Given the description of an element on the screen output the (x, y) to click on. 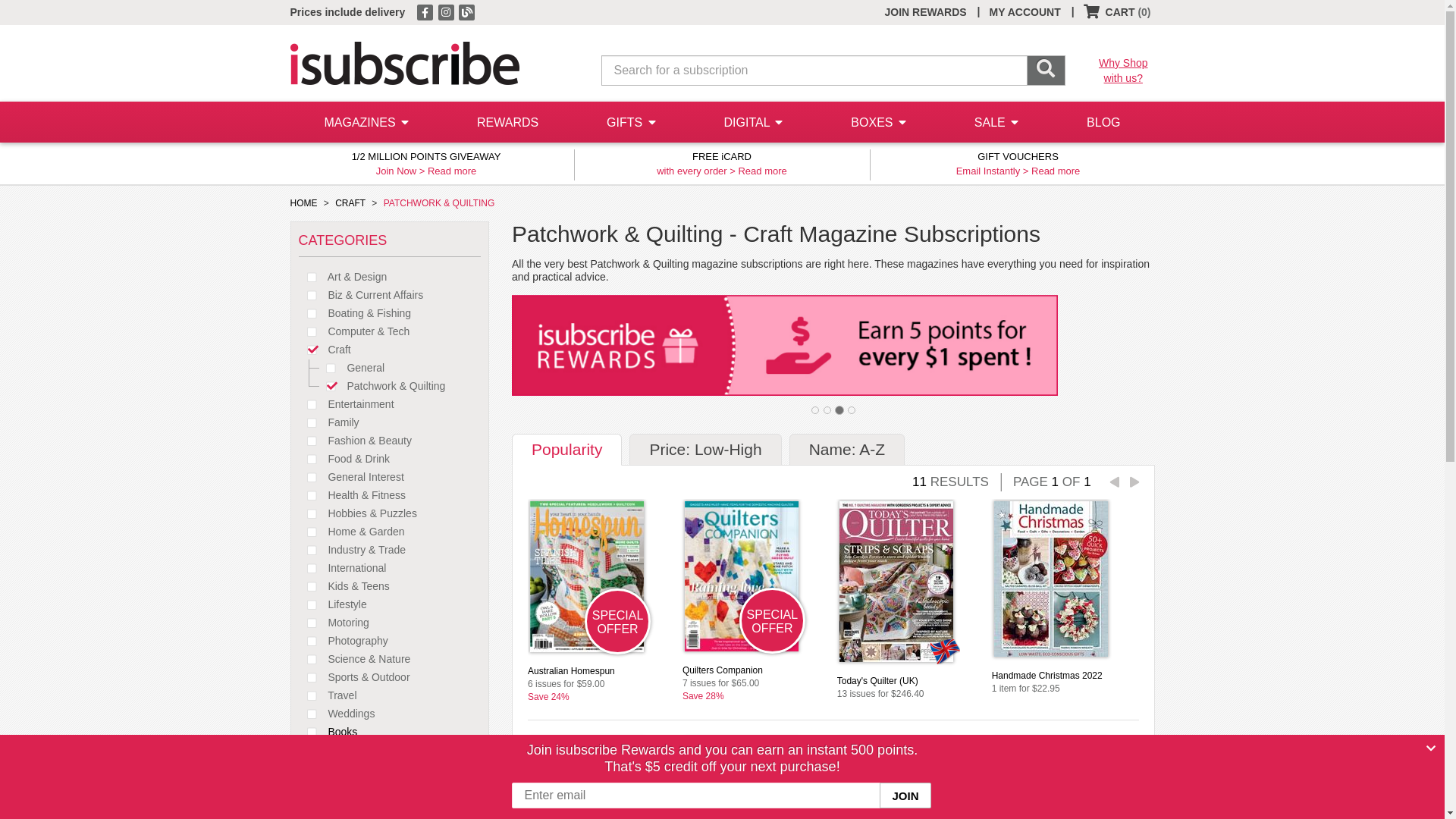
Entertainment Element type: text (346, 404)
Biz & Current Affairs Element type: text (360, 294)
GIFTS Element type: text (630, 122)
MY ACCOUNT Element type: text (1025, 12)
Prices include delivery Element type: text (346, 12)
Books Element type: text (327, 731)
isubscribe on Facebook Element type: hover (425, 11)
BOXES Element type: text (877, 122)
Home & Garden Element type: text (351, 531)
Newspapers Element type: text (342, 749)
Handmade Christmas 2022
1 item for $22.95 Element type: text (1065, 672)
Craft Element type: text (324, 349)
Food & Drink Element type: text (344, 458)
Health & Fitness Element type: text (352, 495)
Today's Quilter (UK)
13 issues for $246.40 Element type: text (910, 677)
HOME Element type: text (302, 202)
BLOG Element type: text (1103, 121)
Read more Element type: text (451, 170)
Computer & Tech Element type: text (354, 331)
isubscribe on Instagram Element type: hover (447, 11)
Science & Nature Element type: text (354, 658)
Price: Low-High Element type: text (705, 449)
DIGITAL Element type: text (753, 122)
REWARDS Element type: text (507, 121)
Kids & Teens Element type: text (343, 586)
MAGAZINES Element type: text (365, 122)
Why Shop
with us? Element type: text (1123, 70)
Name: A-Z Element type: text (846, 449)
International Element type: text (342, 567)
Read more Element type: text (1055, 170)
isubscribe Blog Element type: hover (467, 11)
Sports & Outdoor Element type: text (354, 677)
Lifestyle Element type: text (332, 604)
Read more Element type: text (761, 170)
CART (0) Element type: text (1117, 12)
General Element type: text (350, 367)
Photography Element type: text (343, 640)
Popularity Element type: text (566, 449)
Hobbies & Puzzles Element type: text (357, 513)
Fashion & Beauty Element type: text (354, 440)
JOIN Element type: text (904, 795)
Boating & Fishing Element type: text (354, 313)
Weddings Element type: text (336, 713)
General Interest Element type: text (351, 476)
JOIN REWARDS Element type: text (924, 12)
Travel Element type: text (327, 695)
Patchwork & Quilting Element type: text (380, 385)
SALE Element type: text (996, 122)
Art & Design Element type: text (342, 276)
Motoring Element type: text (333, 622)
Industry & Trade Element type: text (352, 549)
CRAFT Element type: text (350, 202)
Family Element type: text (328, 422)
Subscription Boxes Element type: text (358, 768)
